Given the description of an element on the screen output the (x, y) to click on. 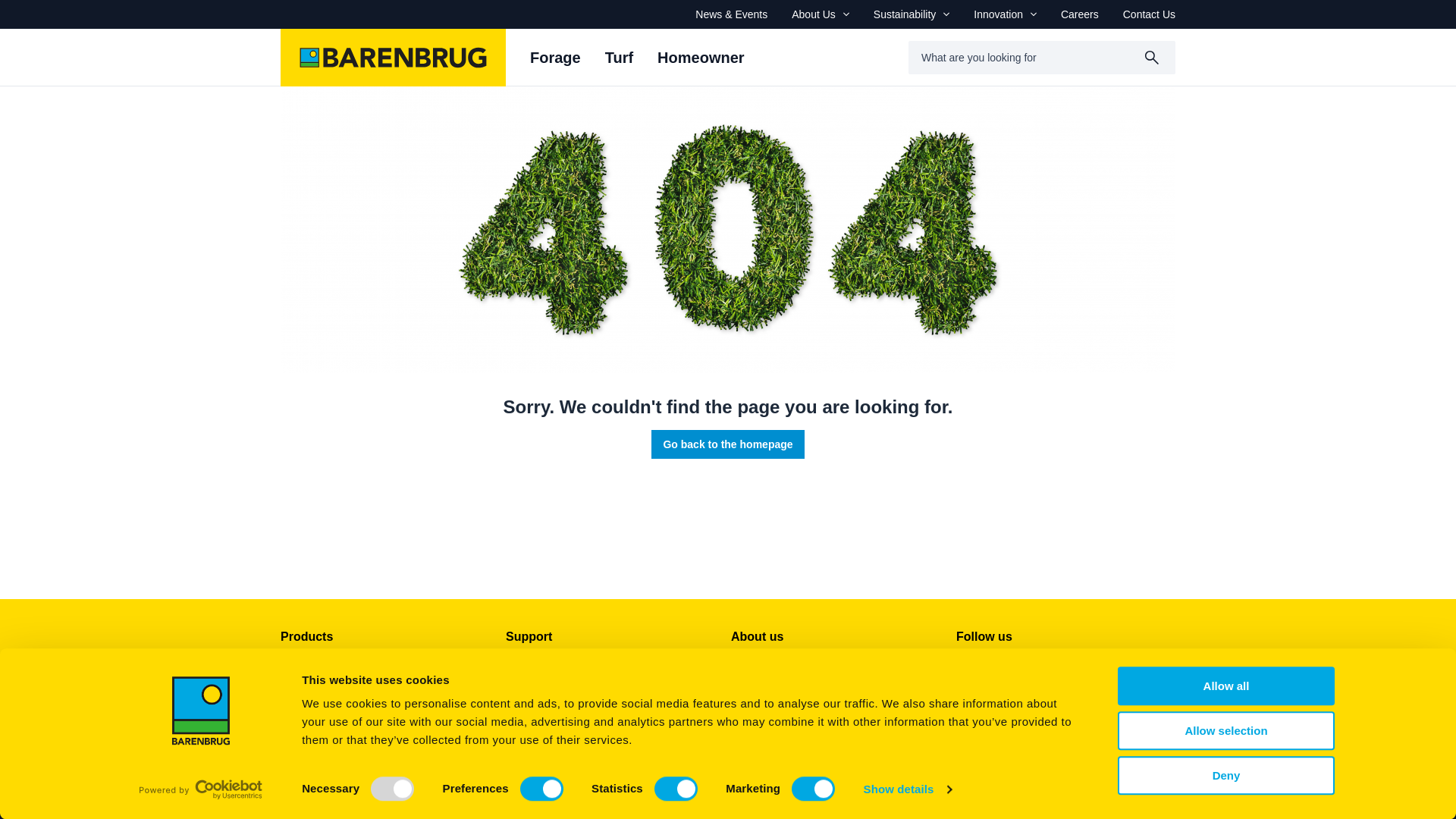
Facebook (967, 668)
YouTube (1040, 668)
LinkedIn (1077, 668)
Home (1022, 749)
Instagram (1113, 668)
Allow all (1226, 685)
X (1004, 668)
Allow selection (1226, 730)
Home (393, 57)
Show details (907, 789)
Deny (1226, 774)
